Given the description of an element on the screen output the (x, y) to click on. 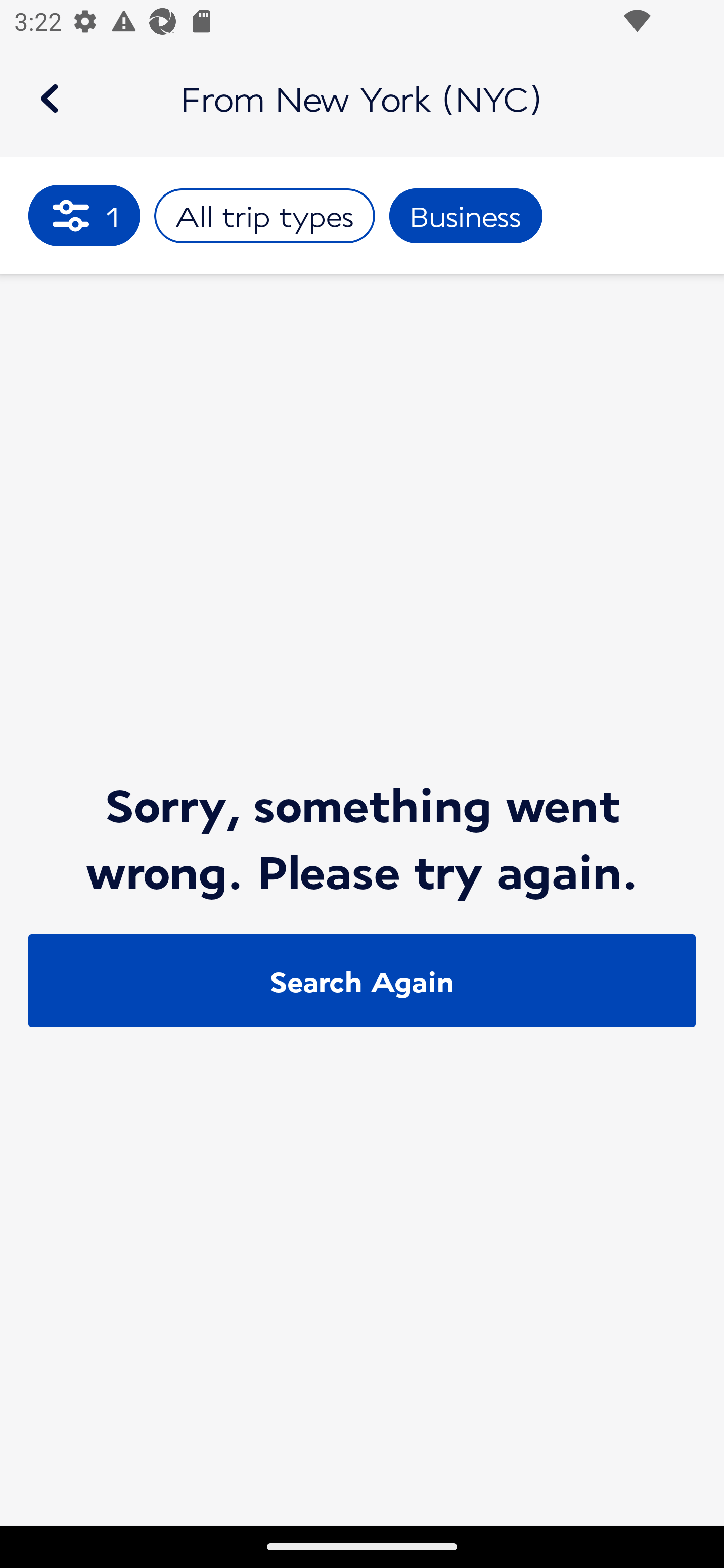
leading 1 (84, 215)
All trip types (264, 216)
Business (465, 216)
Search Again (361, 980)
